Given the description of an element on the screen output the (x, y) to click on. 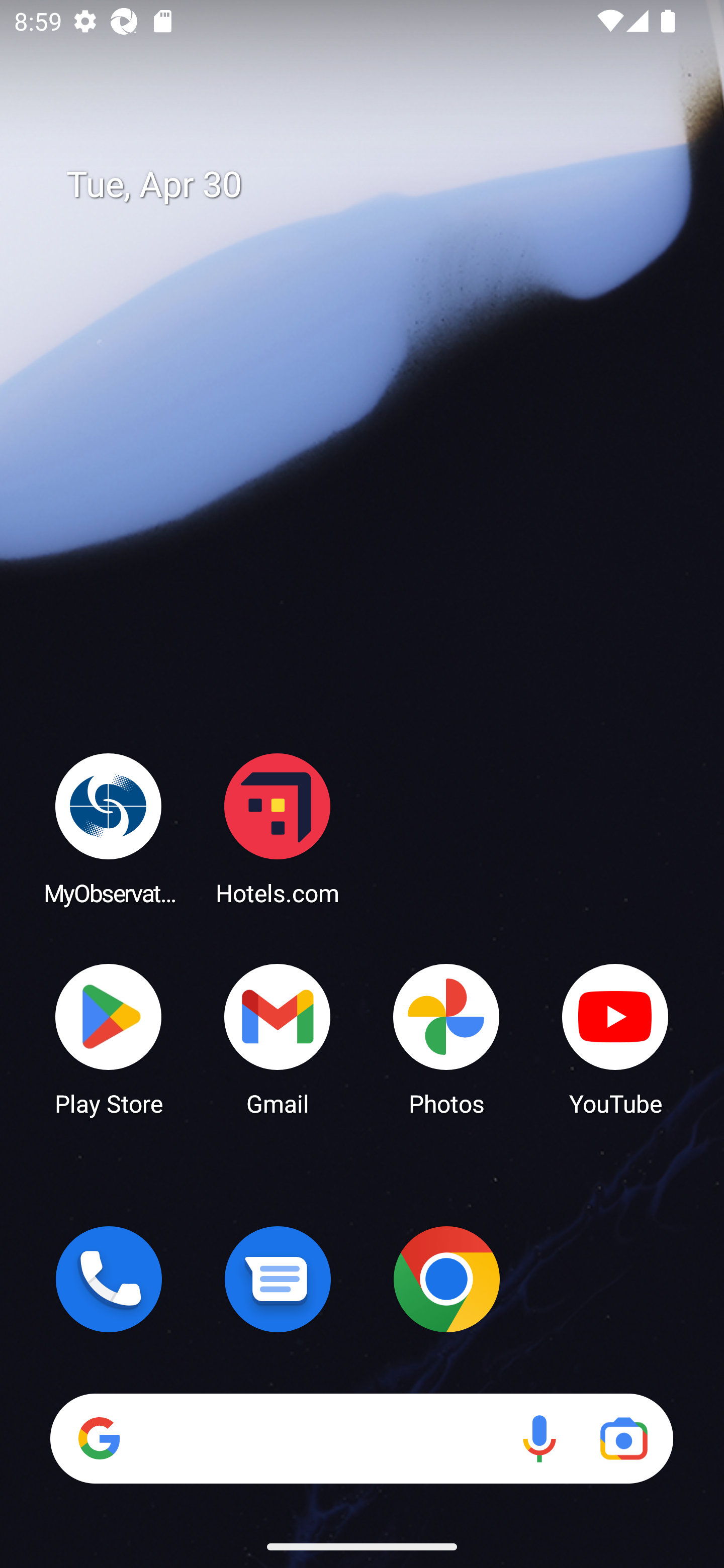
Tue, Apr 30 (375, 184)
MyObservatory (108, 828)
Hotels.com (277, 828)
Play Store (108, 1038)
Gmail (277, 1038)
Photos (445, 1038)
YouTube (615, 1038)
Phone (108, 1279)
Messages (277, 1279)
Chrome (446, 1279)
Voice search (539, 1438)
Google Lens (623, 1438)
